Given the description of an element on the screen output the (x, y) to click on. 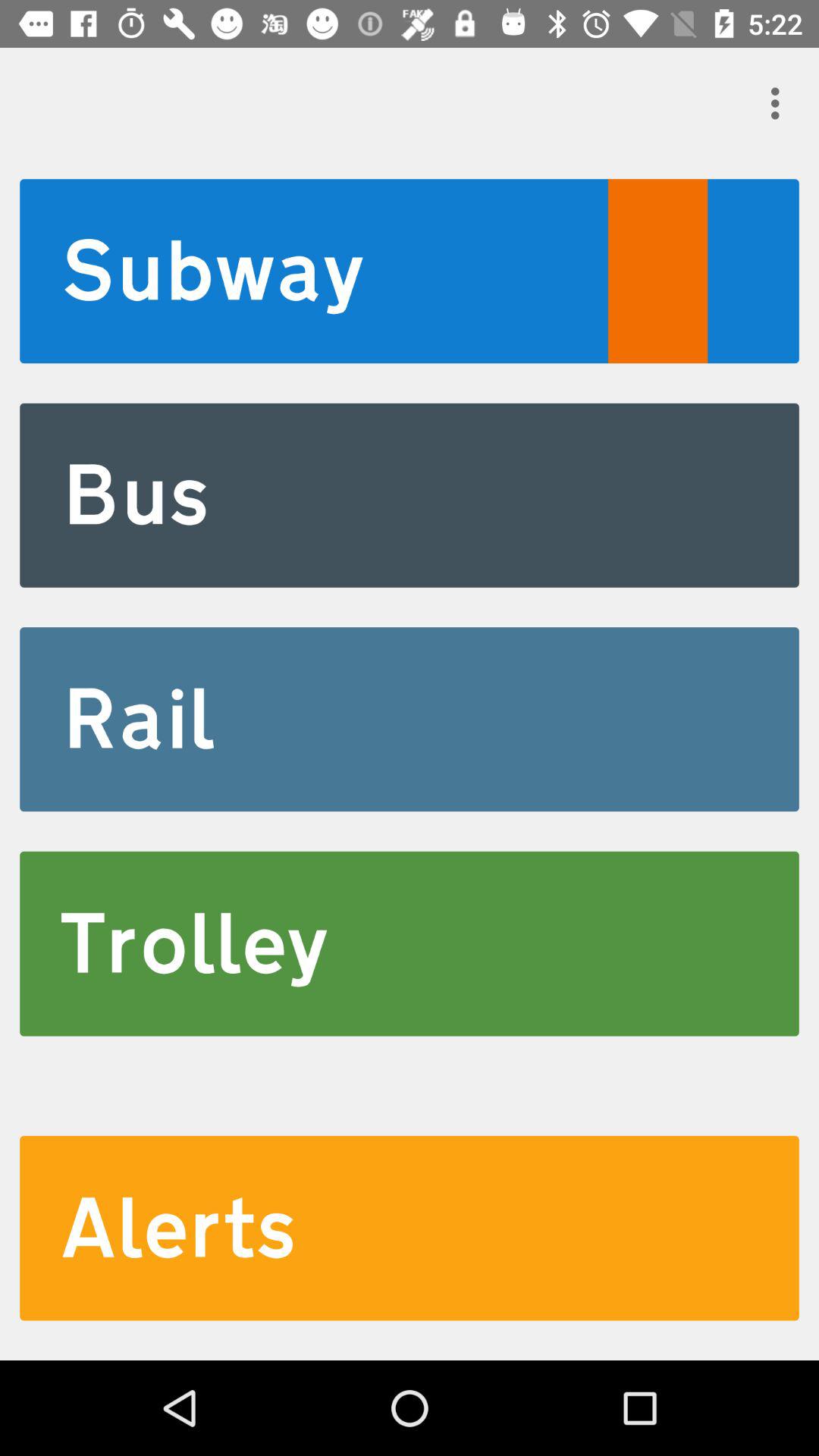
flip until subway item (409, 271)
